Given the description of an element on the screen output the (x, y) to click on. 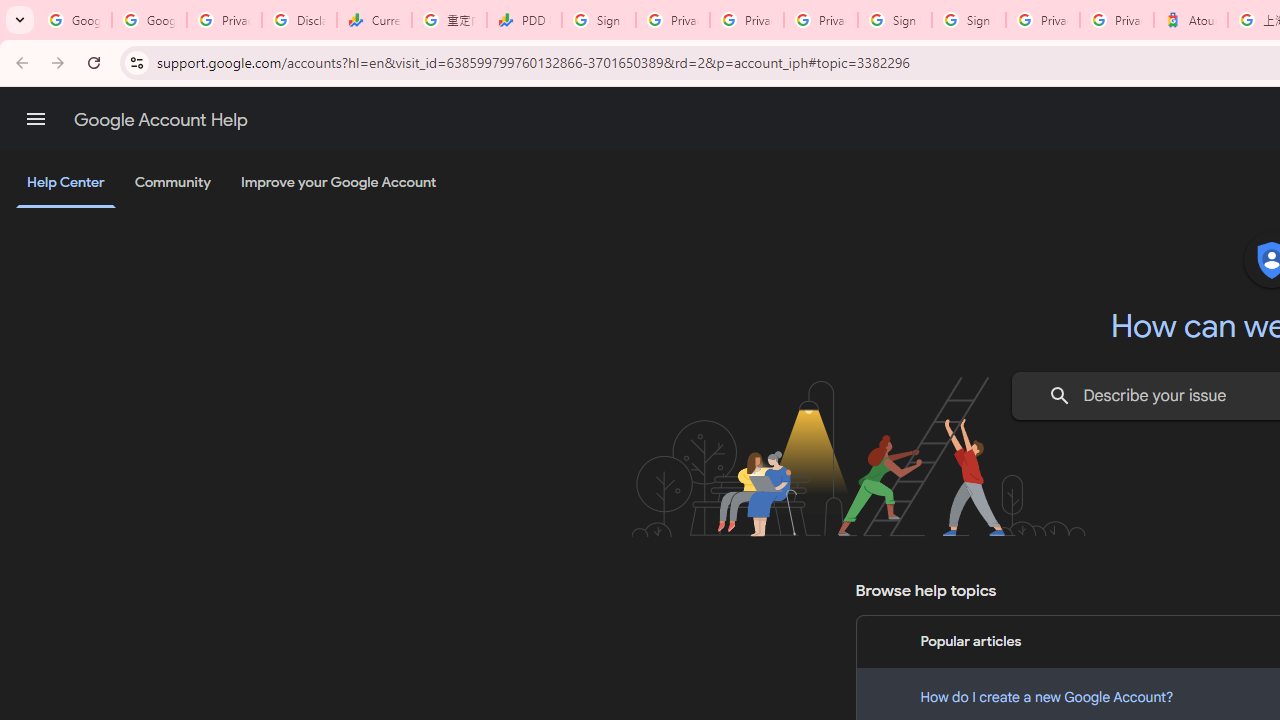
Sign in - Google Accounts (894, 20)
PDD Holdings Inc - ADR (PDD) Price & News - Google Finance (523, 20)
Google Account Help (160, 119)
Help Center (65, 183)
Privacy Checkup (747, 20)
Sign in - Google Accounts (968, 20)
